Given the description of an element on the screen output the (x, y) to click on. 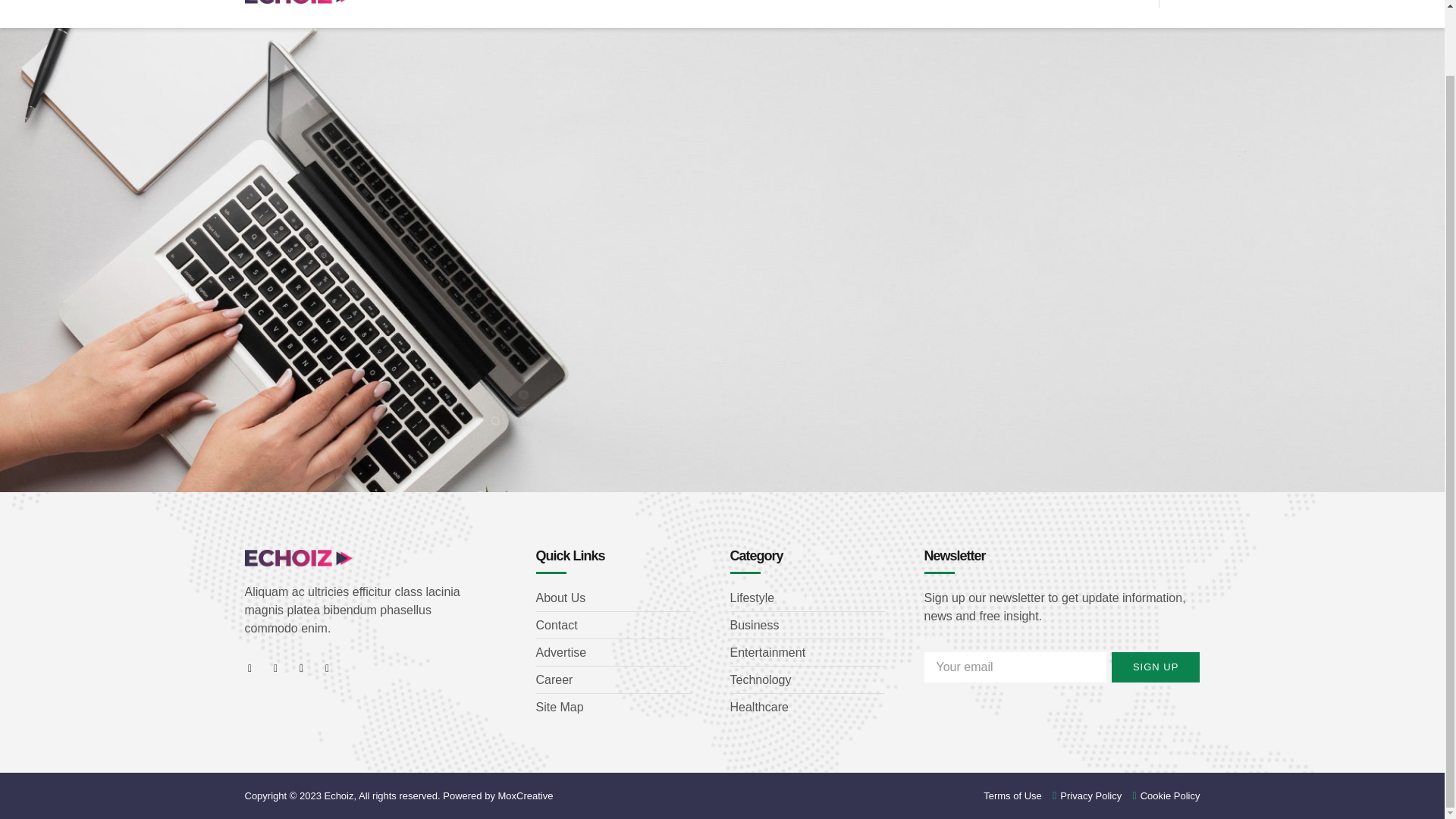
Site Map (612, 707)
START-UP EVENTS (845, 4)
Technology (806, 679)
Healthcare (806, 707)
Cookie Policy (1160, 795)
SIGN UP (1155, 666)
Privacy Policy (1082, 795)
Advertise (612, 652)
START-UP UPDATES (713, 4)
Terms of Use (1013, 796)
